Given the description of an element on the screen output the (x, y) to click on. 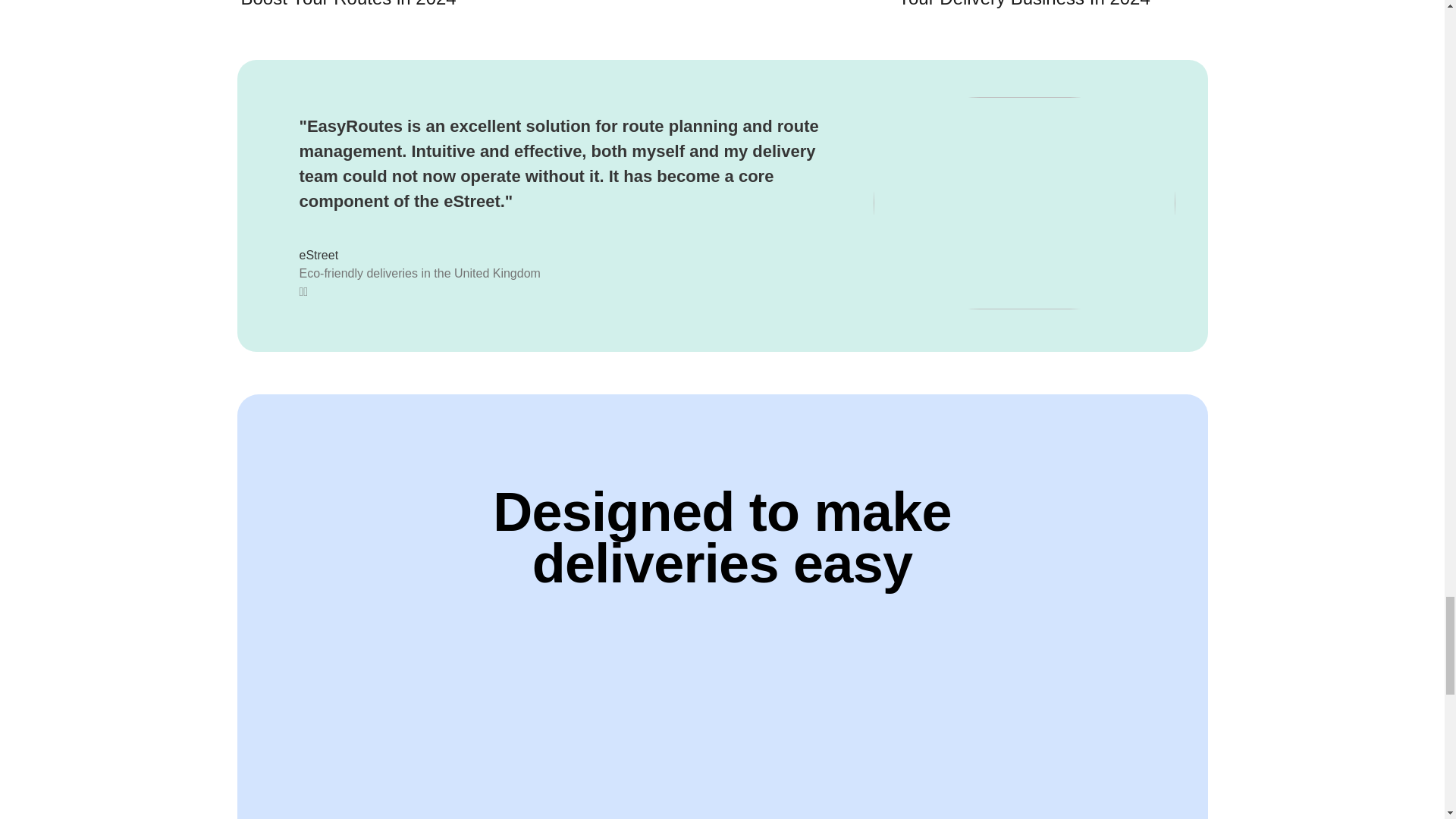
How Truck Routing Software Can Boost Your Routes in 2024 (394, 8)
